Given the description of an element on the screen output the (x, y) to click on. 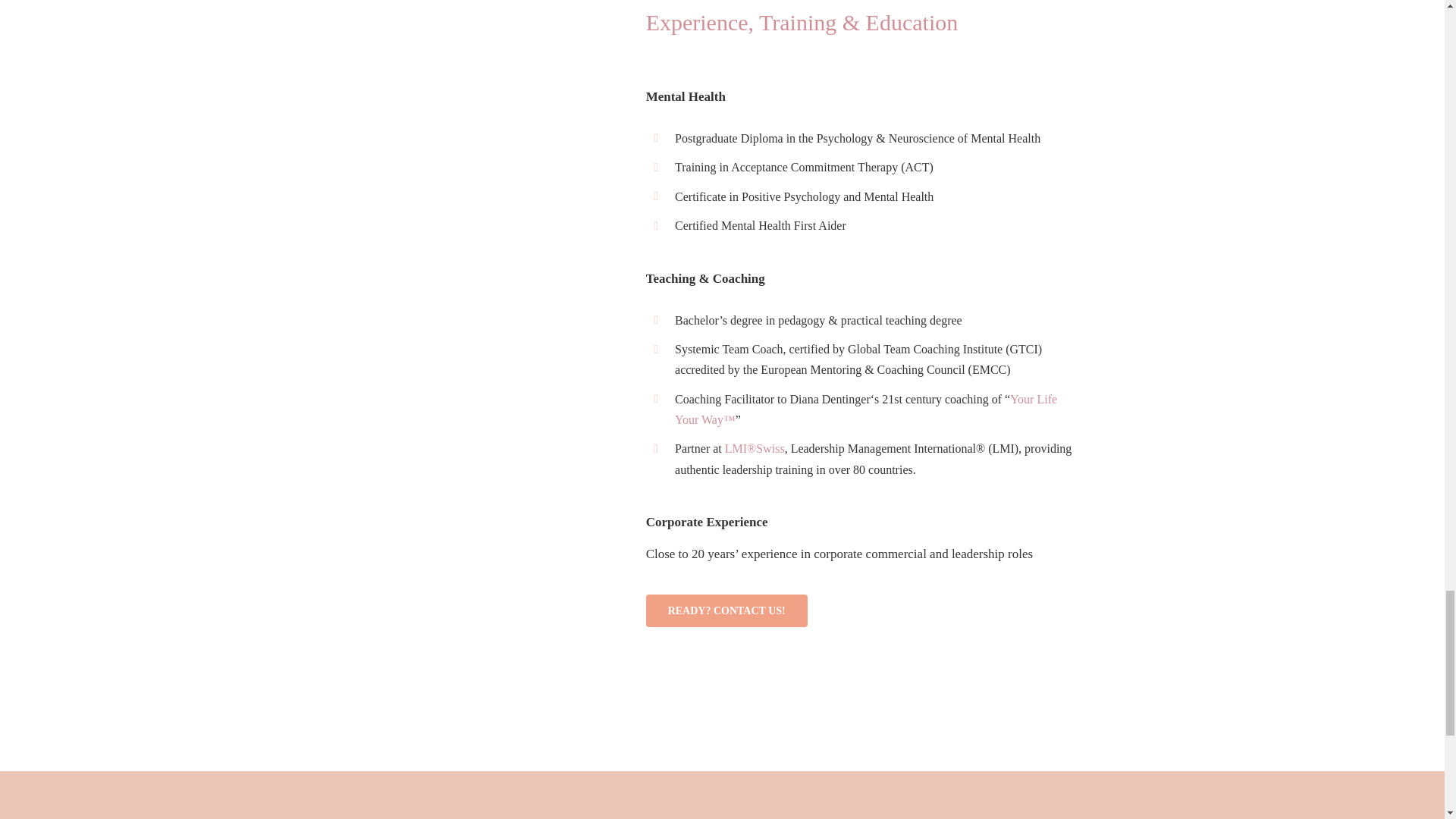
READY? CONTACT US! (727, 610)
